Given the description of an element on the screen output the (x, y) to click on. 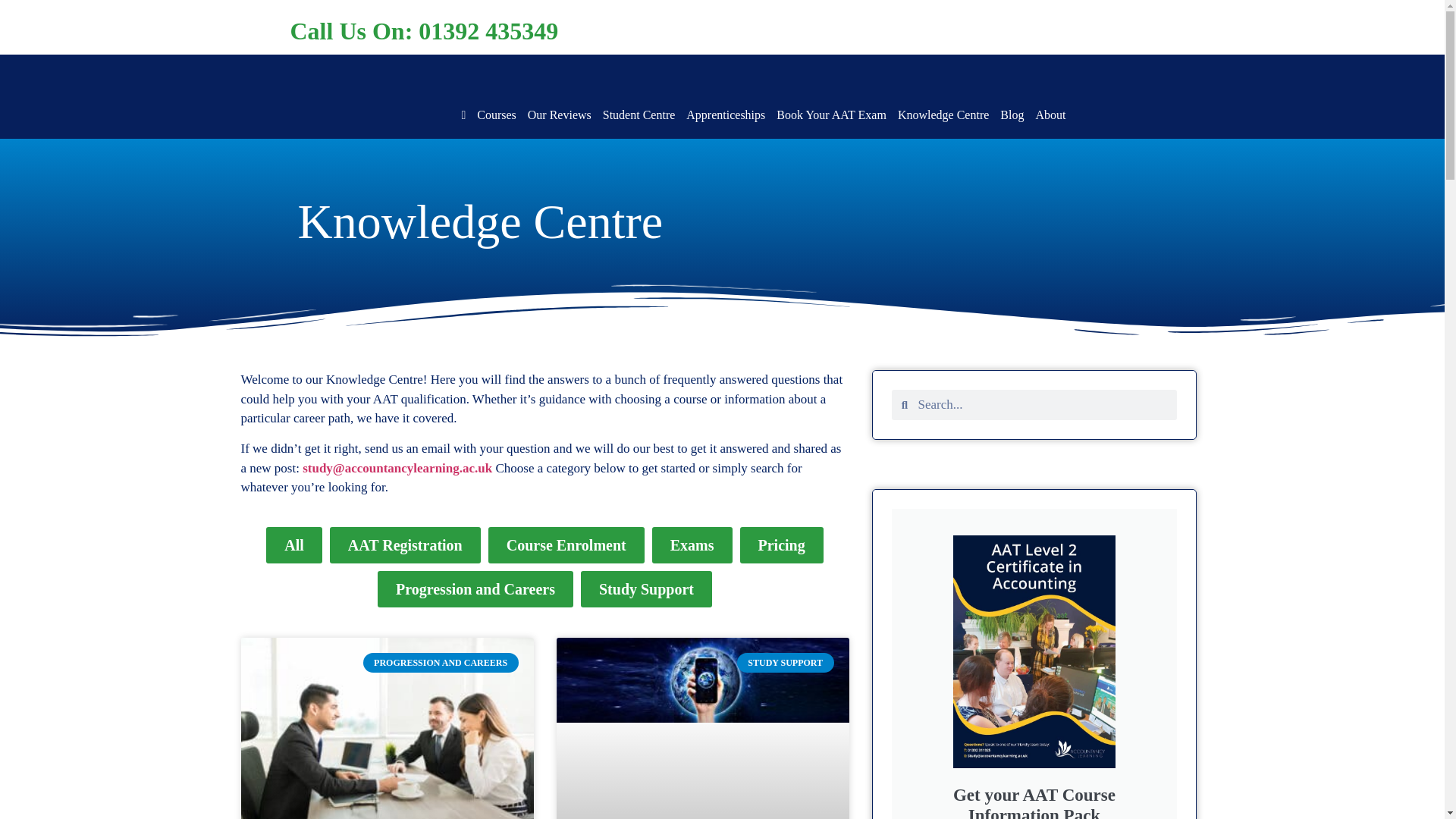
Book Your AAT Exam (831, 115)
Call Us On: 01392 435349 (423, 31)
Student Centre (638, 115)
Our Reviews (559, 115)
About (1050, 115)
Apprenticeships (725, 115)
Knowledge Centre (943, 115)
Courses (496, 115)
